Given the description of an element on the screen output the (x, y) to click on. 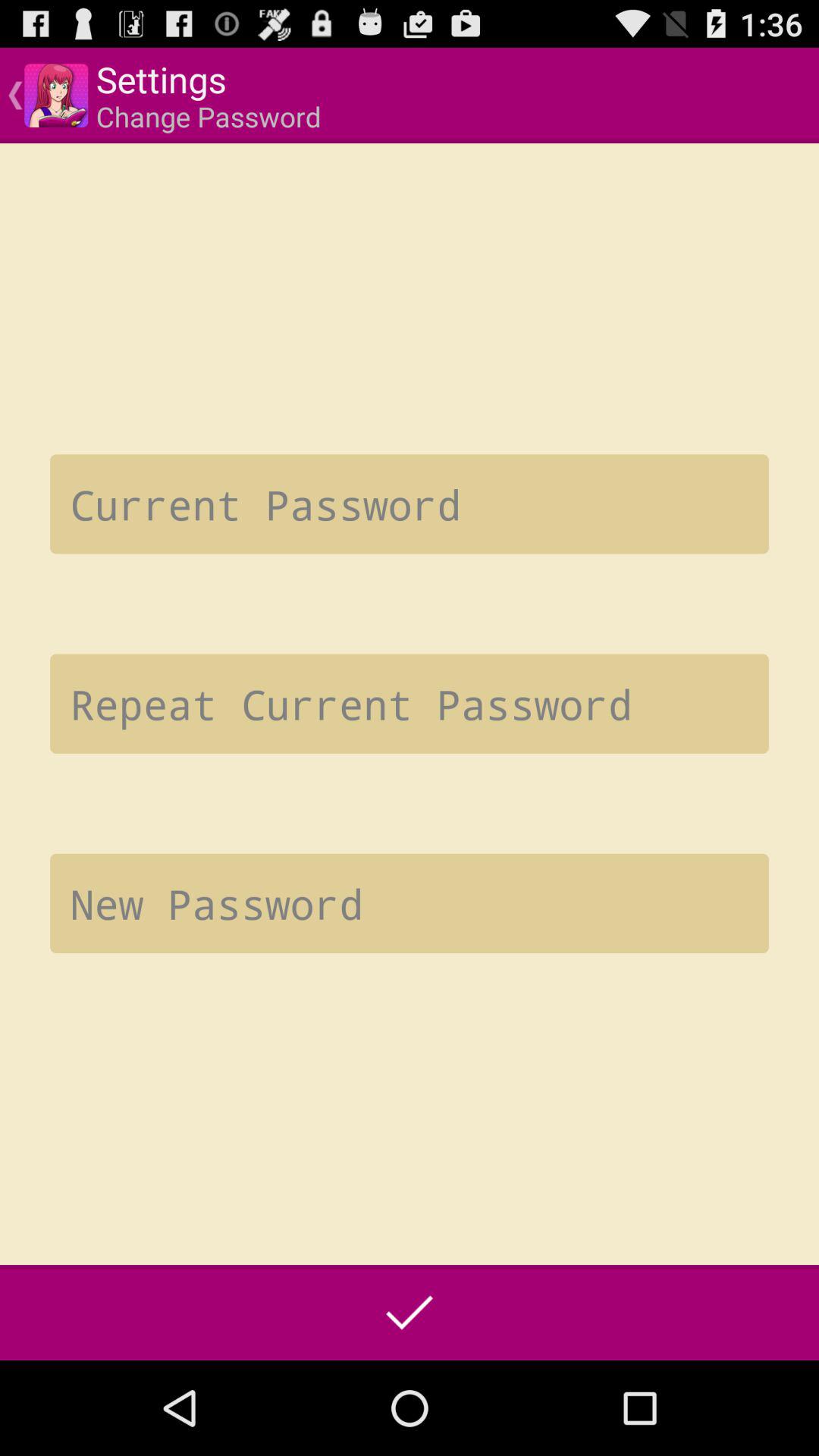
enter password (409, 703)
